Given the description of an element on the screen output the (x, y) to click on. 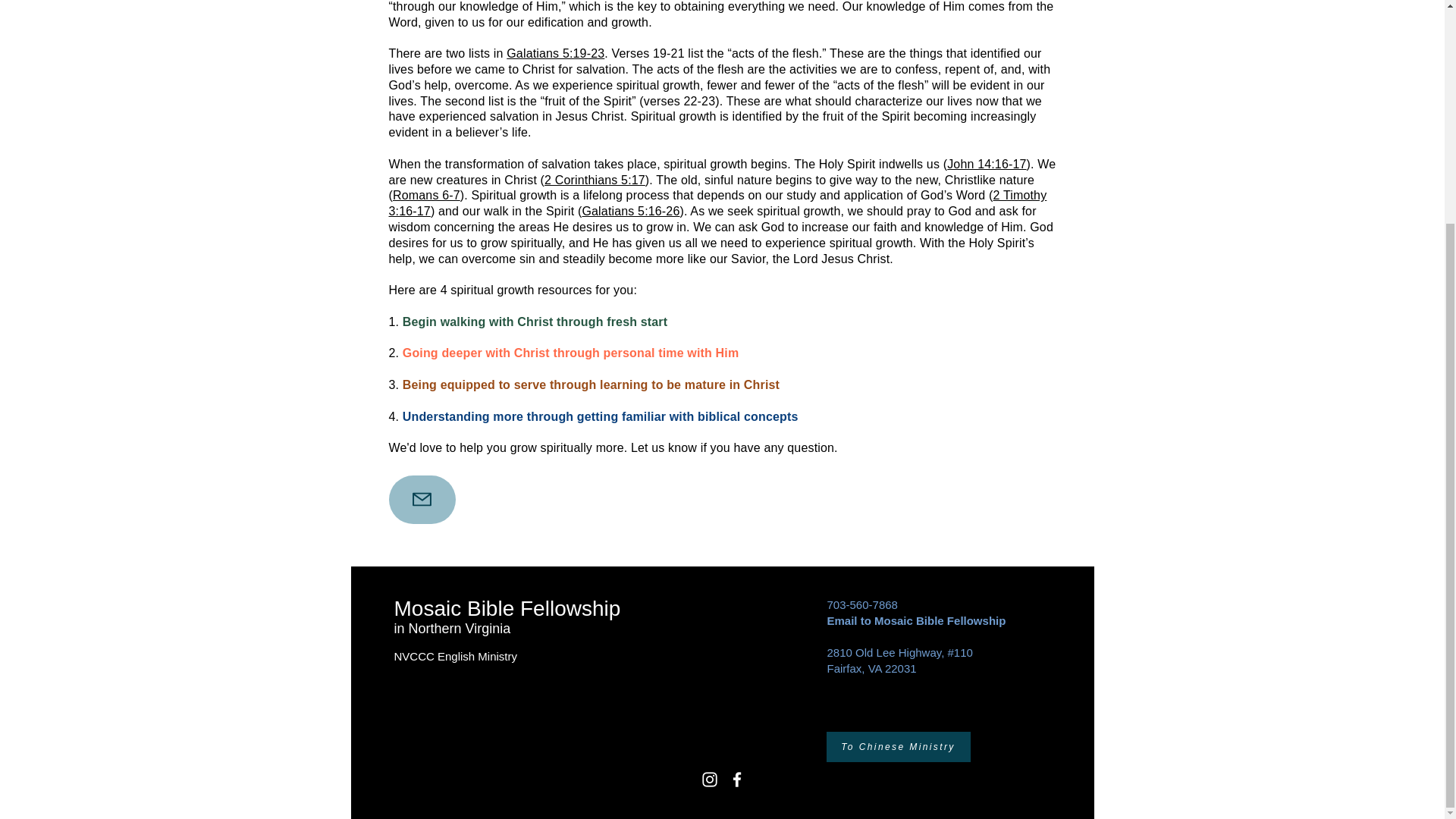
Galatians 5:16-26 (629, 210)
John 14:16-17 (986, 164)
2 Timothy 3:16-17 (717, 203)
Begin walking with Christ through fresh start (534, 321)
Romans 6-7 (426, 195)
2 Corinthians 5:17 (594, 179)
Going deeper with Christ through personal time with Him (571, 352)
Galatians 5:19-23 (555, 52)
